Given the description of an element on the screen output the (x, y) to click on. 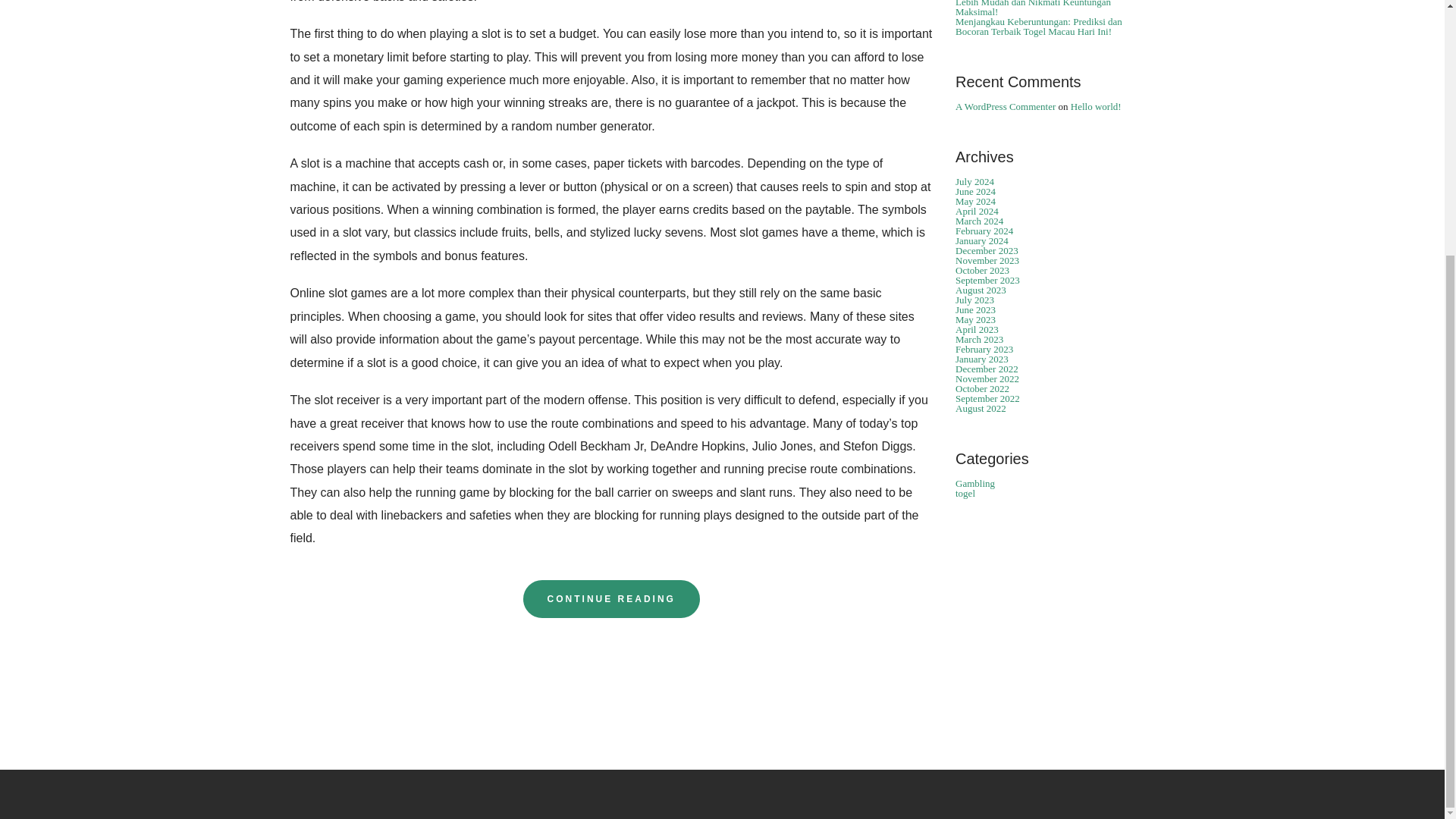
January 2024 (982, 240)
May 2024 (975, 201)
August 2023 (980, 289)
February 2023 (984, 348)
December 2022 (986, 368)
September 2022 (987, 398)
June 2024 (975, 191)
November 2022 (987, 378)
August 2022 (980, 408)
April 2023 (976, 328)
CONTINUE READING (611, 598)
June 2023 (975, 309)
Hello world! (1095, 106)
